Given the description of an element on the screen output the (x, y) to click on. 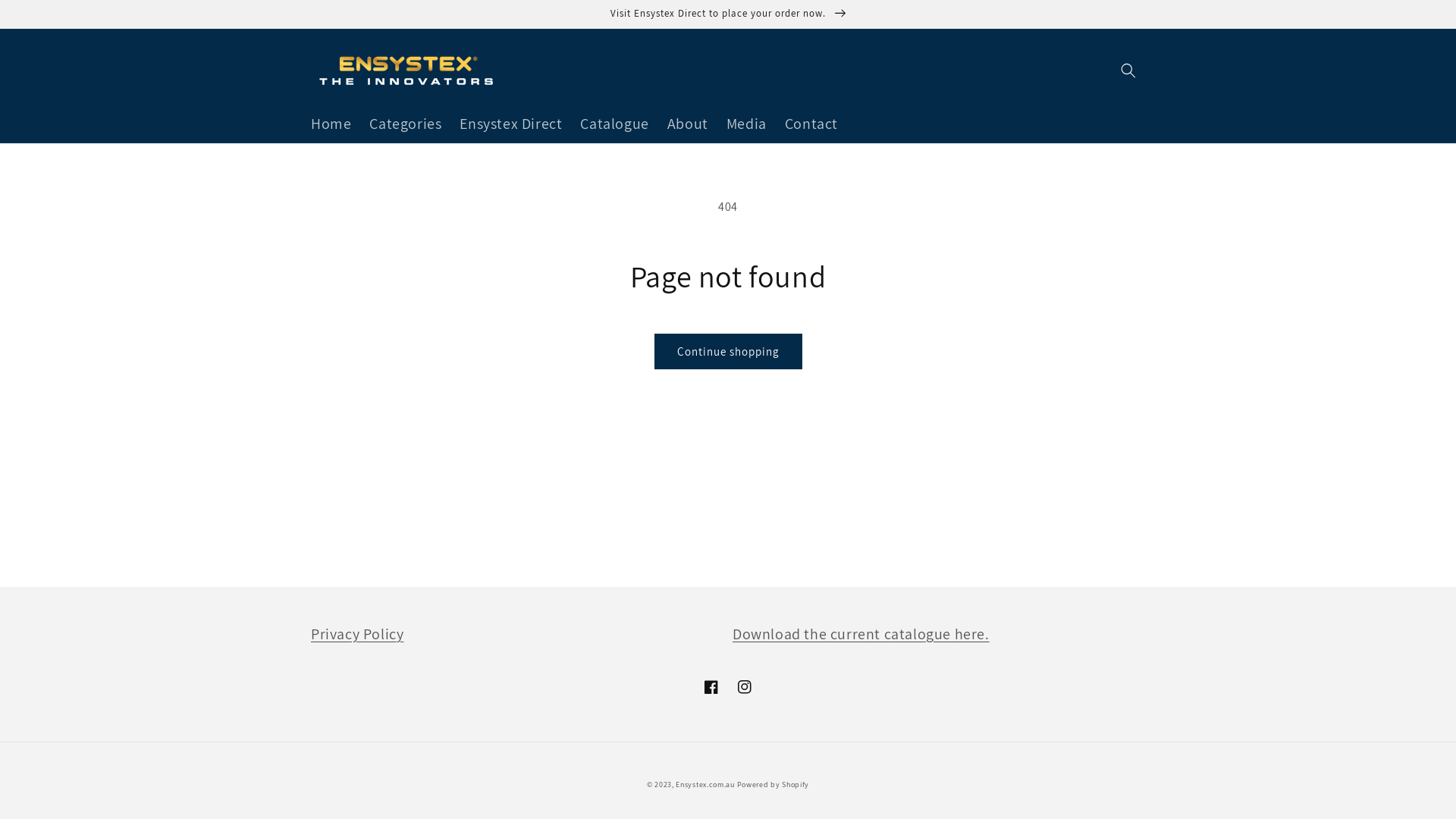
Catalogue Element type: text (614, 123)
Instagram Element type: text (744, 686)
Categories Element type: text (405, 123)
Ensystex Direct Element type: text (510, 123)
Continue shopping Element type: text (727, 351)
Powered by Shopify Element type: text (773, 784)
Download the current catalogue here. Element type: text (860, 633)
Privacy Policy Element type: text (356, 633)
Home Element type: text (330, 123)
Media Element type: text (746, 123)
Facebook Element type: text (711, 686)
About Element type: text (687, 123)
Contact Element type: text (811, 123)
Ensystex.com.au Element type: text (704, 784)
